Given the description of an element on the screen output the (x, y) to click on. 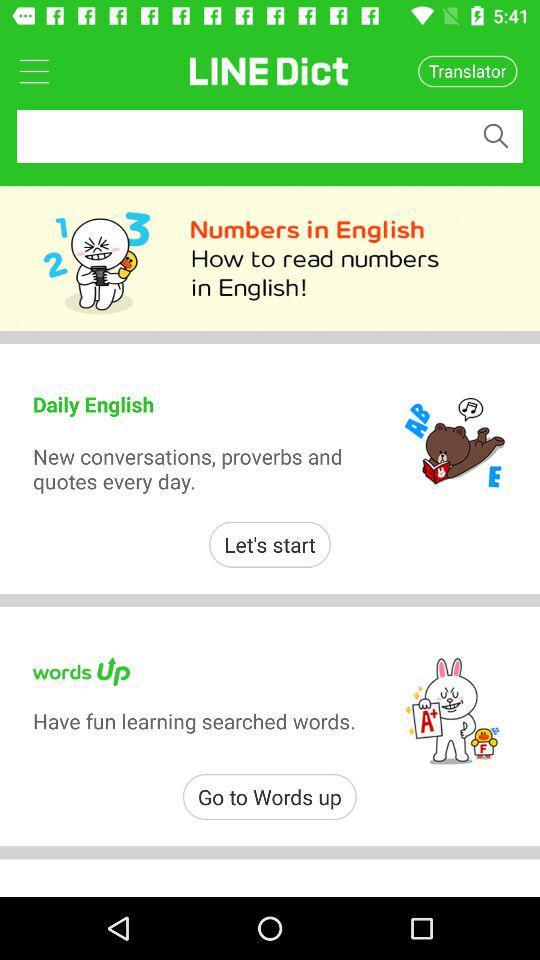
jump to go to words (269, 796)
